Given the description of an element on the screen output the (x, y) to click on. 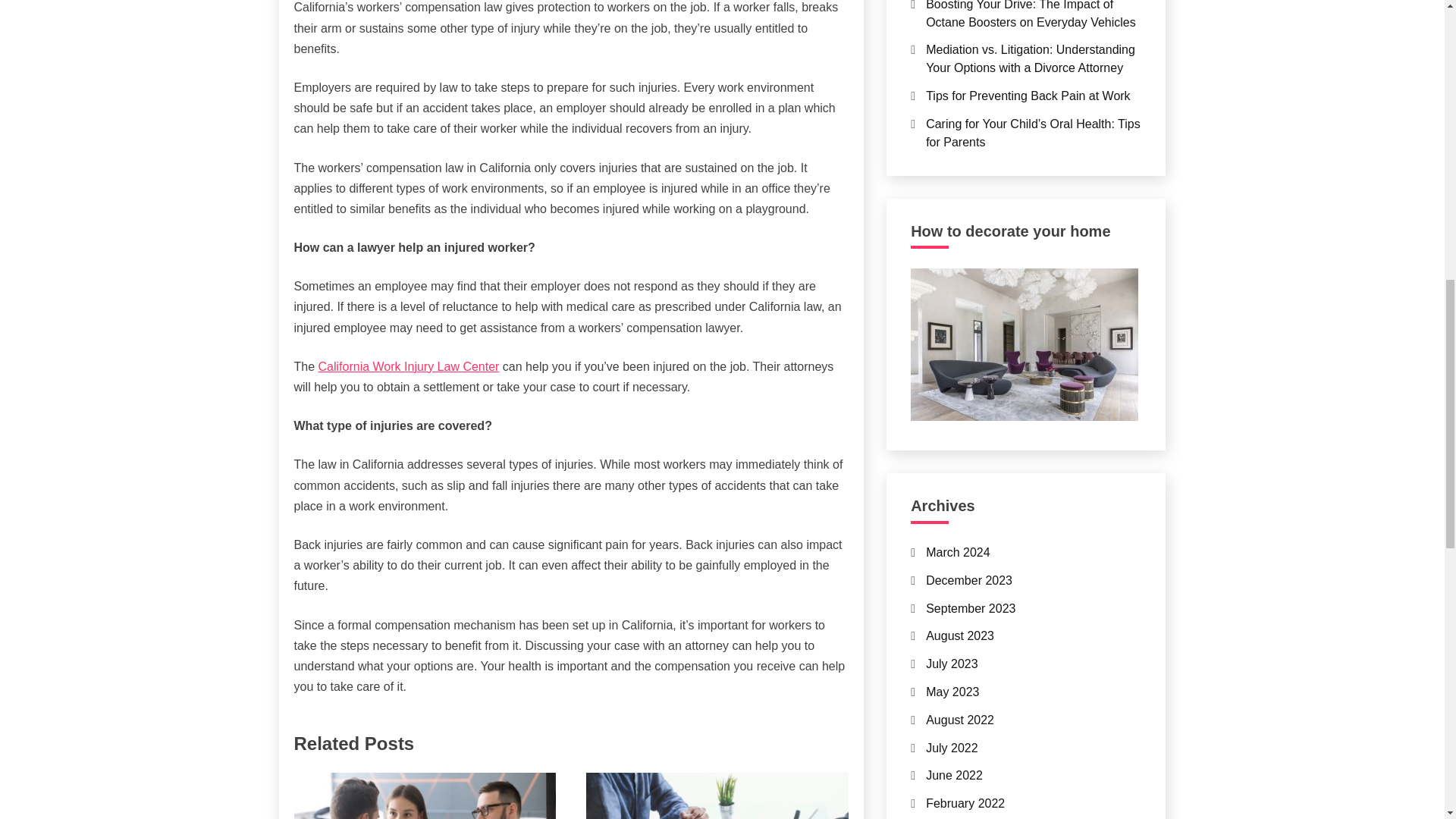
California Work Injury Law Center (408, 366)
Tips for Preventing Back Pain at Work (1027, 95)
